Given the description of an element on the screen output the (x, y) to click on. 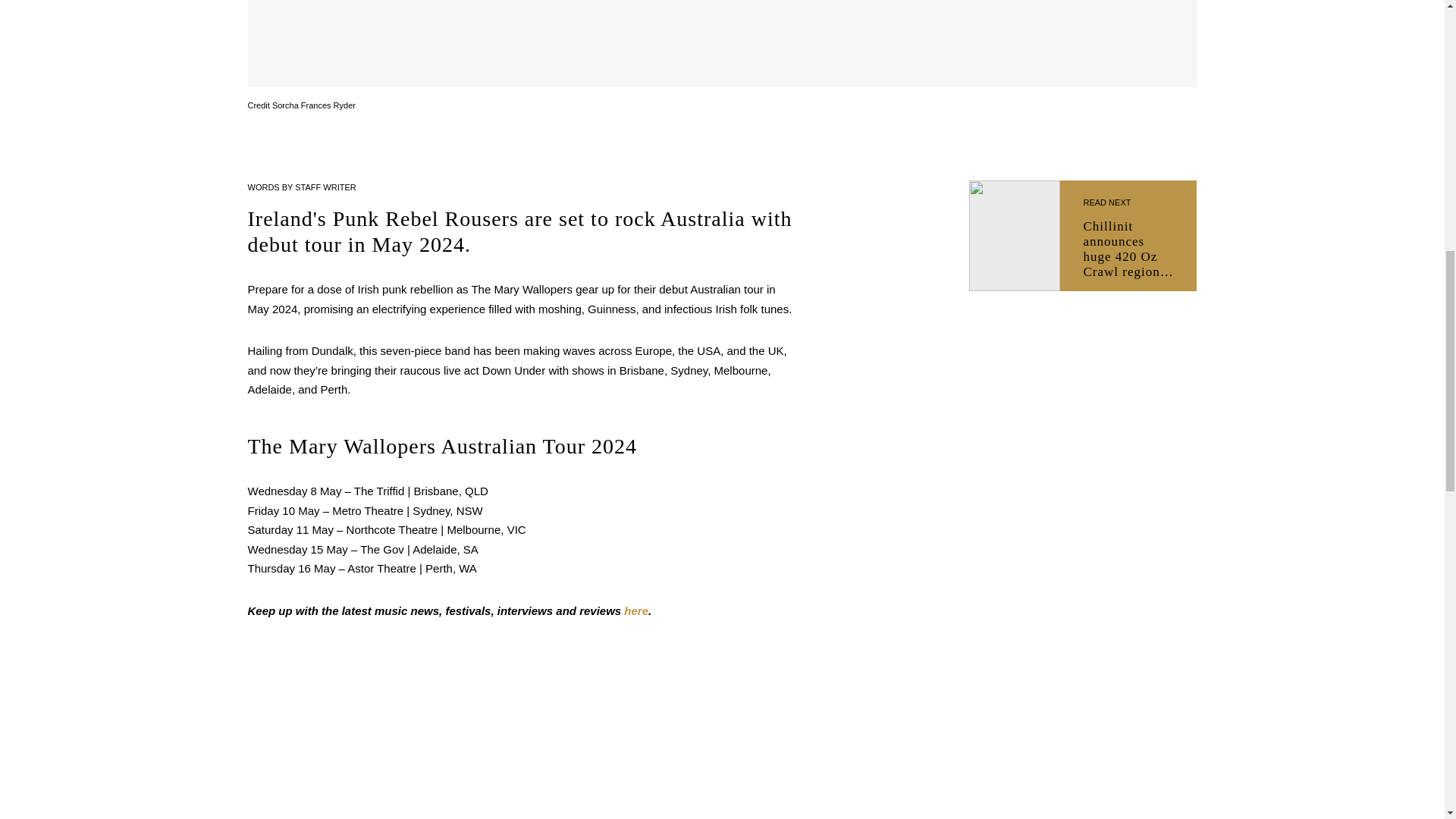
here (635, 610)
